Given the description of an element on the screen output the (x, y) to click on. 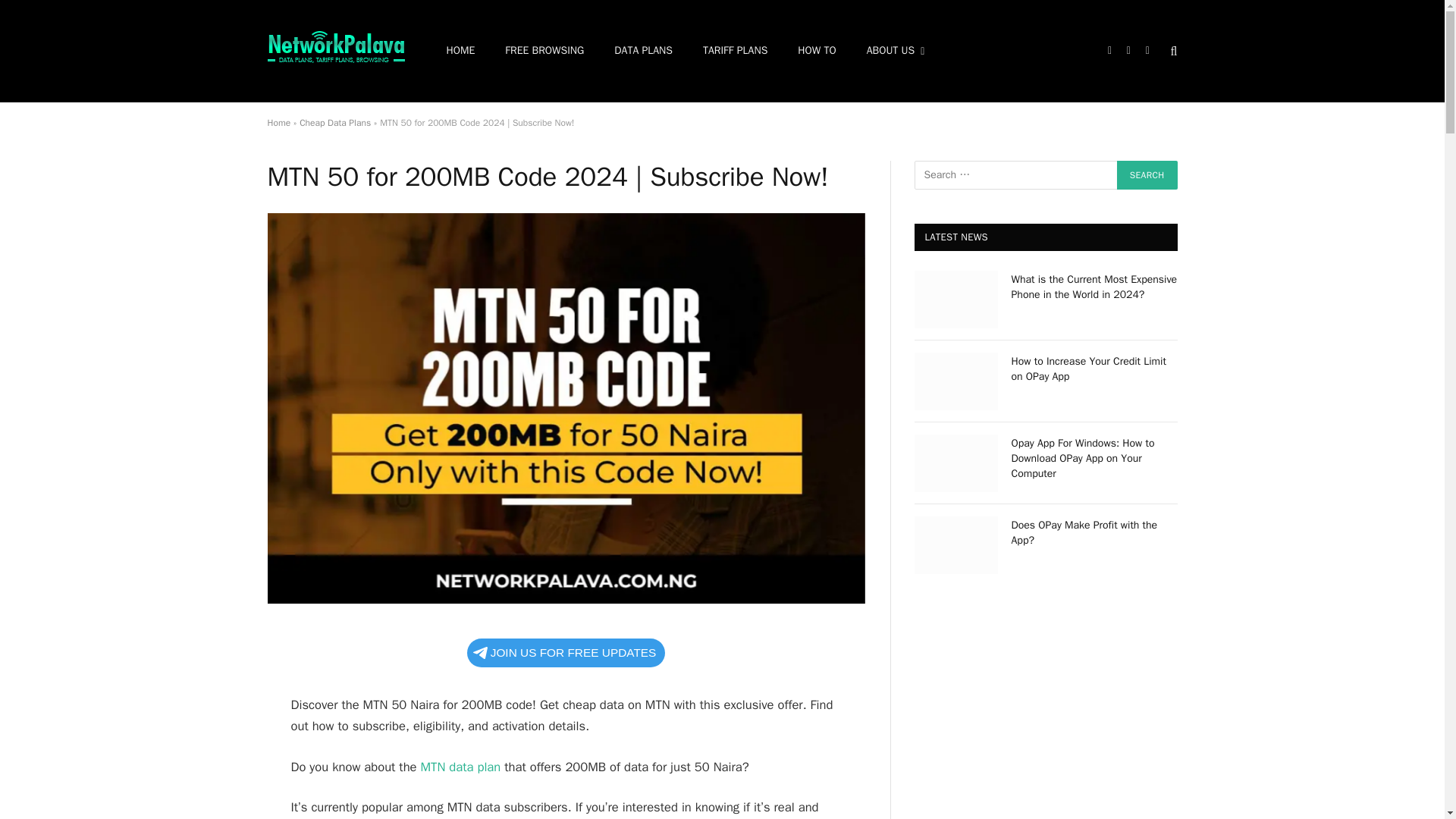
Search (1146, 174)
Network Palava (335, 51)
TARIFF PLANS (735, 51)
Cheap Data Plans (335, 122)
FREE BROWSING (543, 51)
JOIN US FOR FREE UPDATES (566, 652)
MTN data plan (458, 766)
Home (277, 122)
Search (1146, 174)
